Given the description of an element on the screen output the (x, y) to click on. 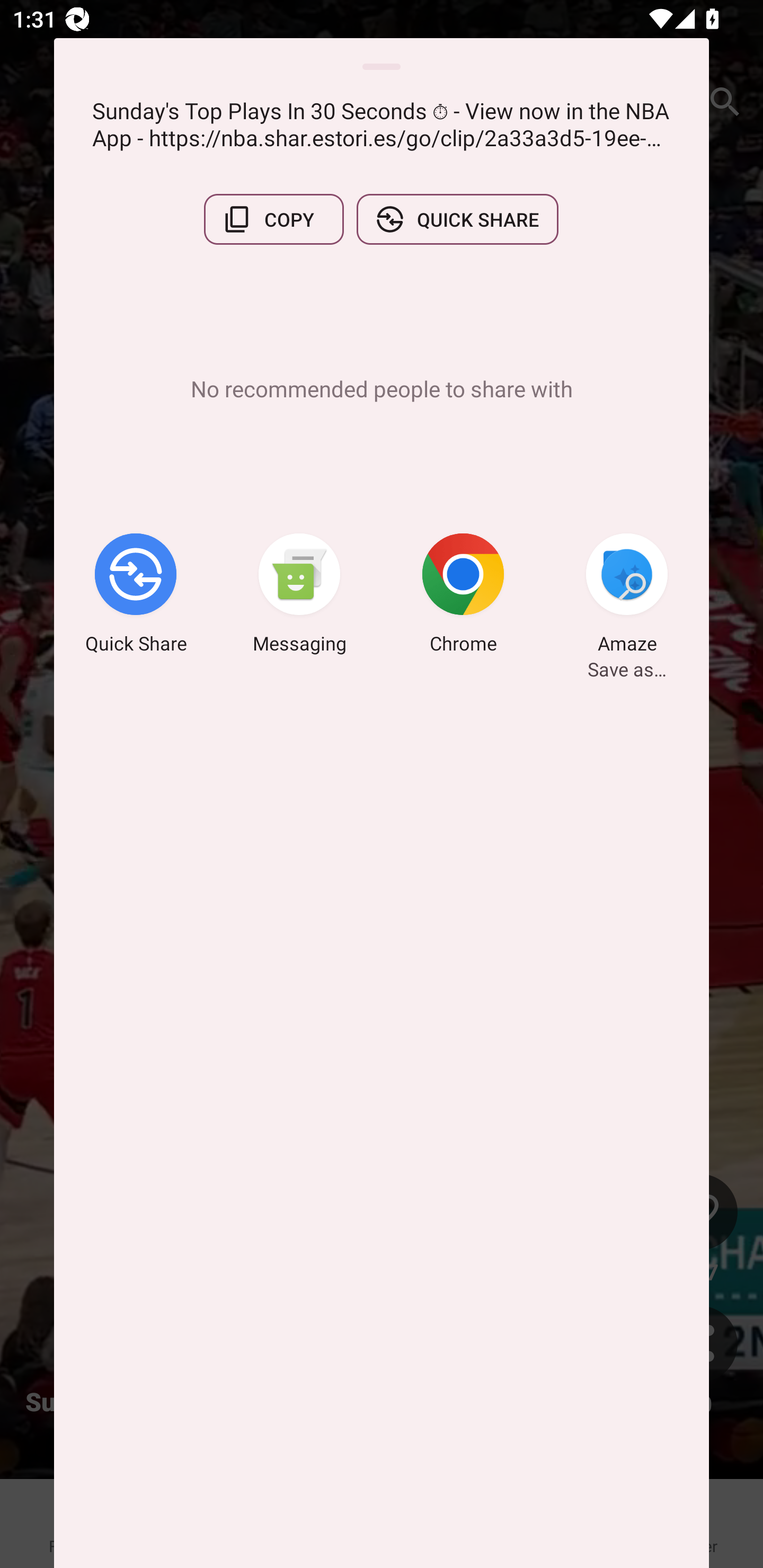
COPY (273, 219)
QUICK SHARE (457, 219)
Quick Share (135, 596)
Messaging (299, 596)
Chrome (463, 596)
Amaze Save as… (626, 596)
